Given the description of an element on the screen output the (x, y) to click on. 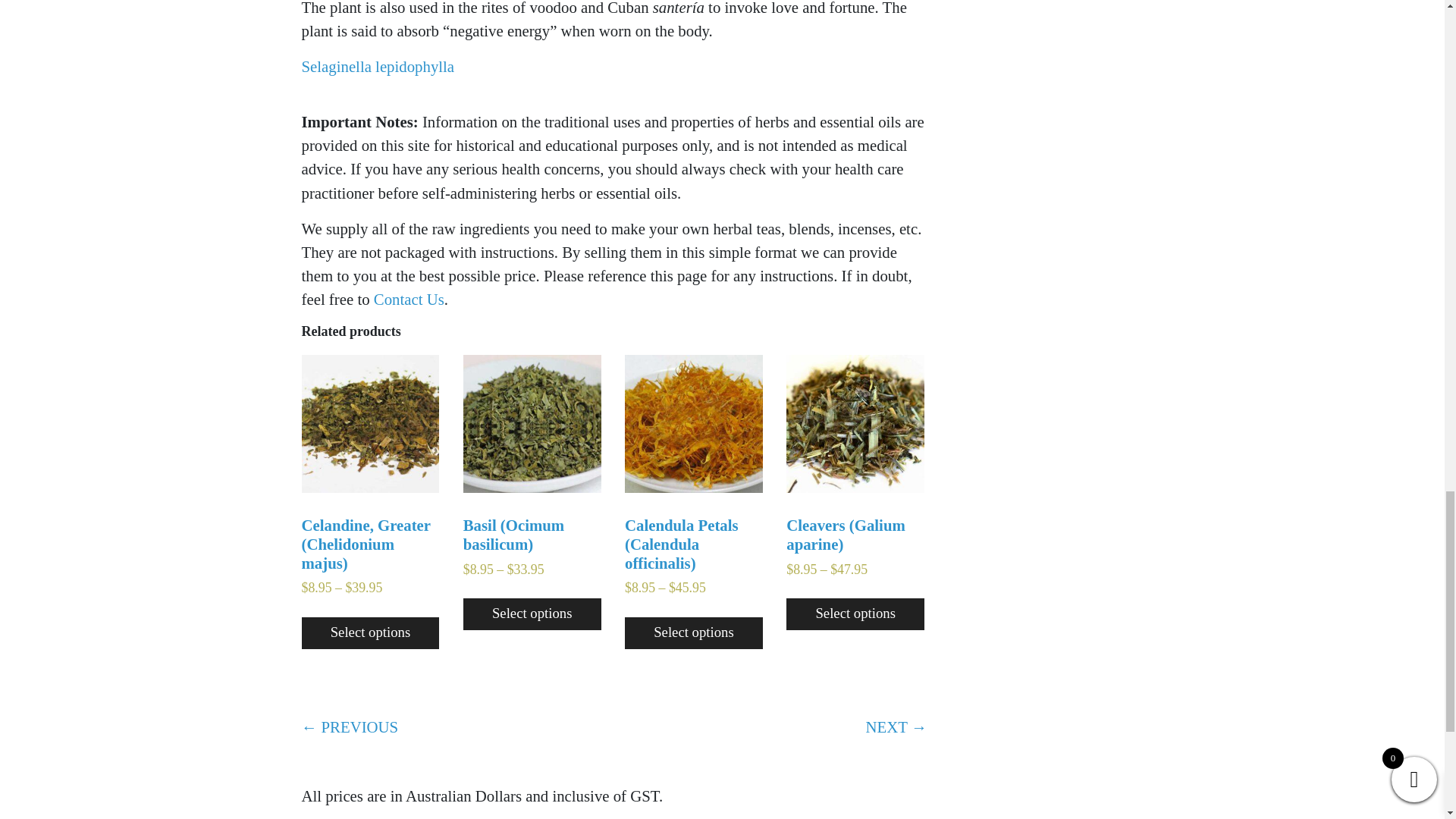
Select options (693, 633)
Contact Us (409, 298)
Select options (370, 633)
Selaginella lepidophylla (377, 66)
Select options (532, 613)
